Given the description of an element on the screen output the (x, y) to click on. 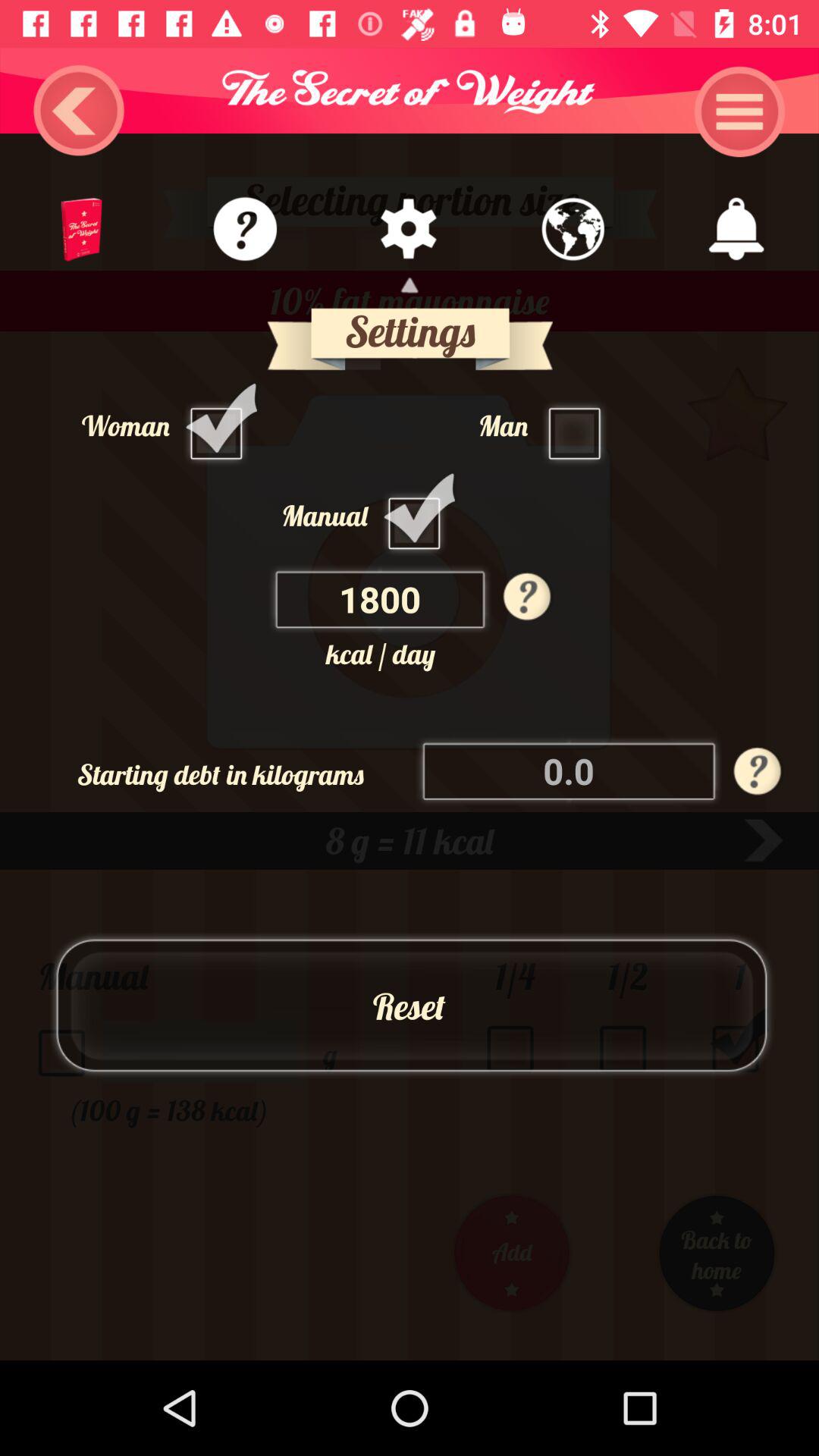
select manual (418, 515)
